Given the description of an element on the screen output the (x, y) to click on. 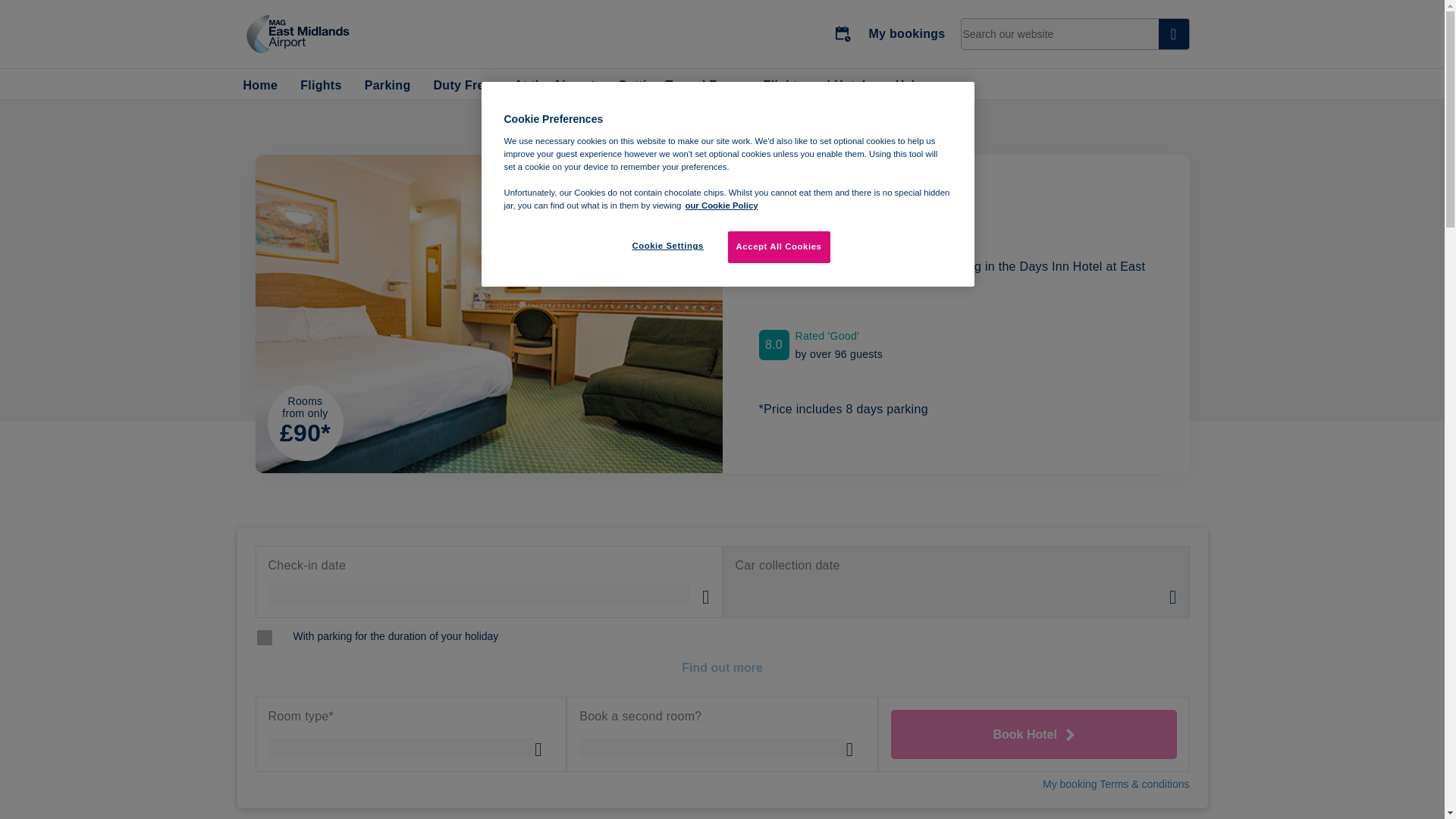
Parking (387, 86)
Home (260, 86)
At the Airport (554, 86)
My bookings (889, 33)
Flights (320, 86)
East Midlands Airport (296, 33)
Duty Free (462, 86)
